Given the description of an element on the screen output the (x, y) to click on. 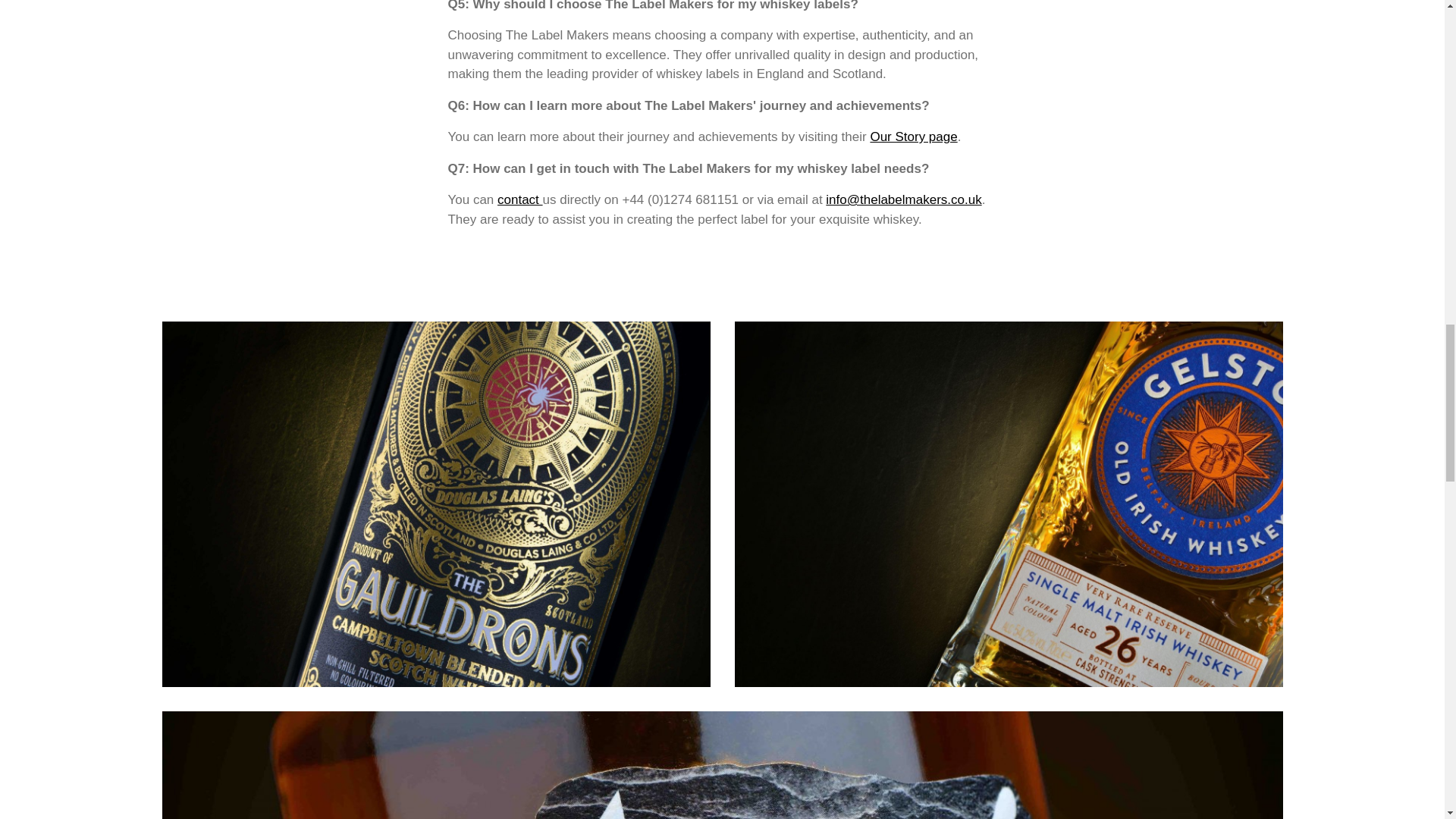
Our Story page (912, 136)
contact (520, 199)
